Given the description of an element on the screen output the (x, y) to click on. 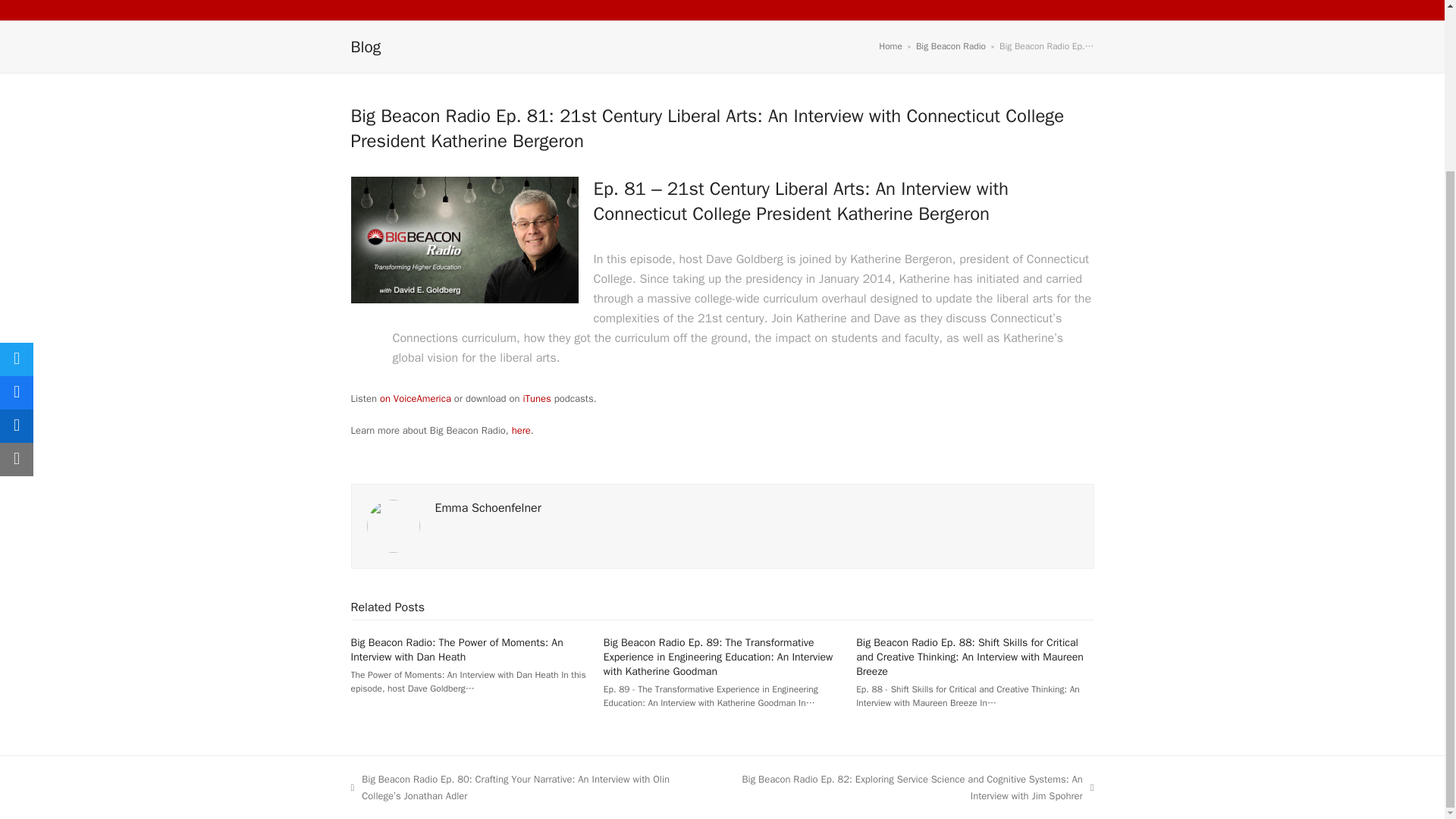
Home (890, 46)
Emma Schoenfelner (488, 507)
Share on Twitter (16, 153)
Visit Author Page (488, 507)
Big Beacon Radio (950, 46)
on VoiceAmerica (415, 398)
iTunes (536, 398)
